Given the description of an element on the screen output the (x, y) to click on. 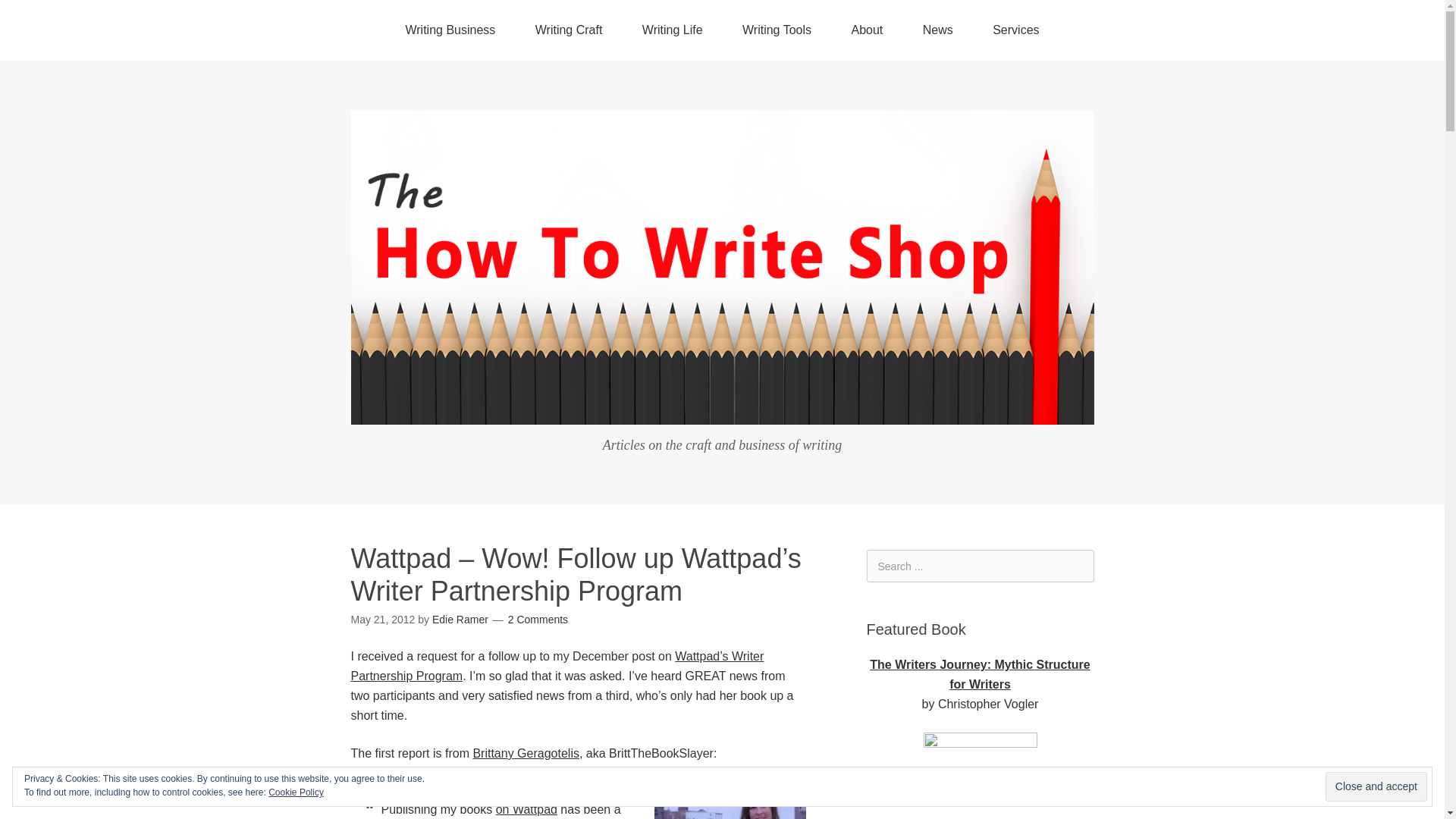
How To Write Shop (721, 412)
Monday, May 21, 2012, 4:00 am (382, 619)
Close and accept (1375, 786)
Writing Life (672, 30)
Writing Business (450, 30)
Writing Tools (776, 30)
Posts by Edie Ramer (459, 619)
Writing Craft (568, 30)
About (866, 30)
